Given the description of an element on the screen output the (x, y) to click on. 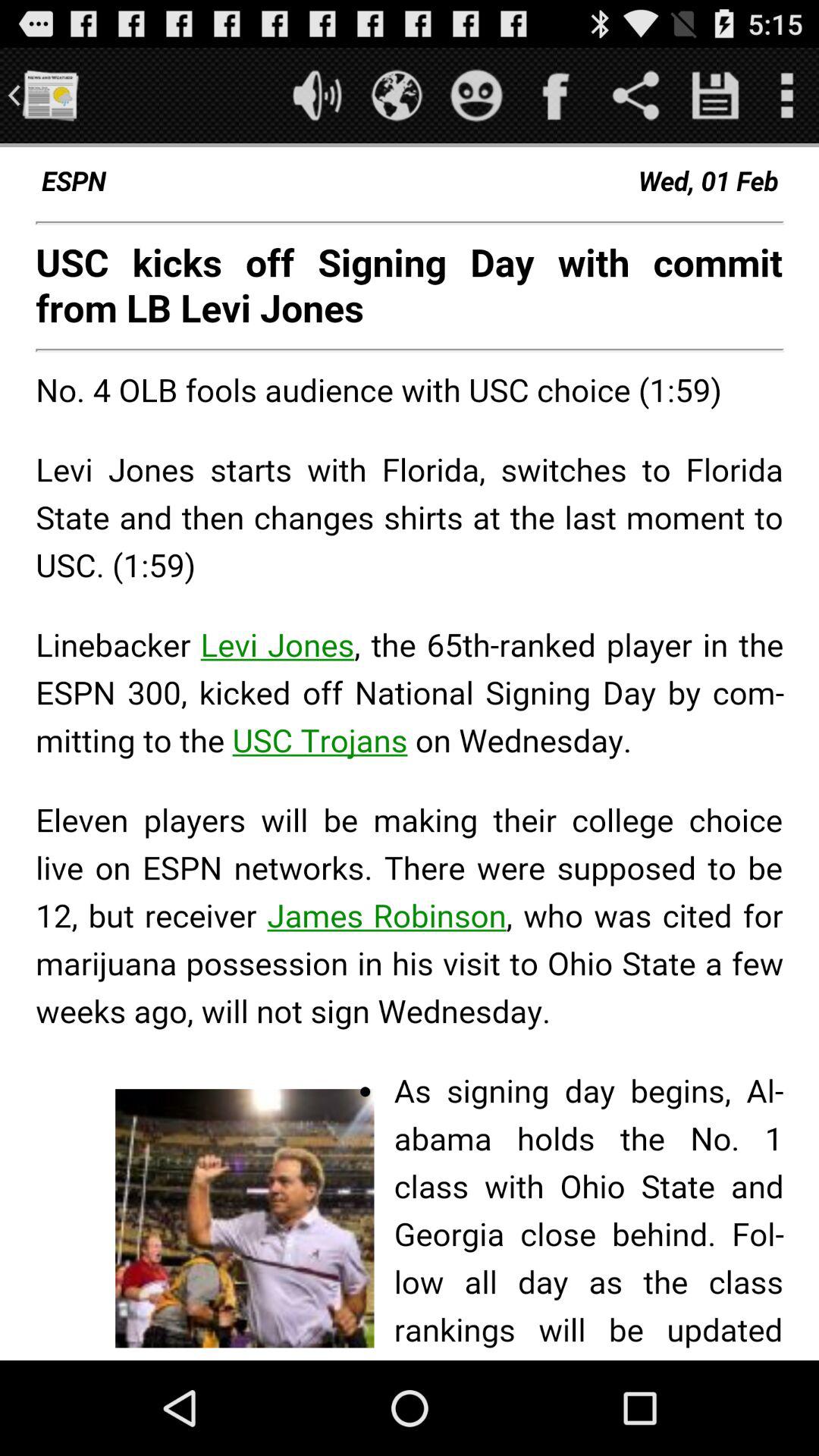
toggle sound (317, 95)
